Given the description of an element on the screen output the (x, y) to click on. 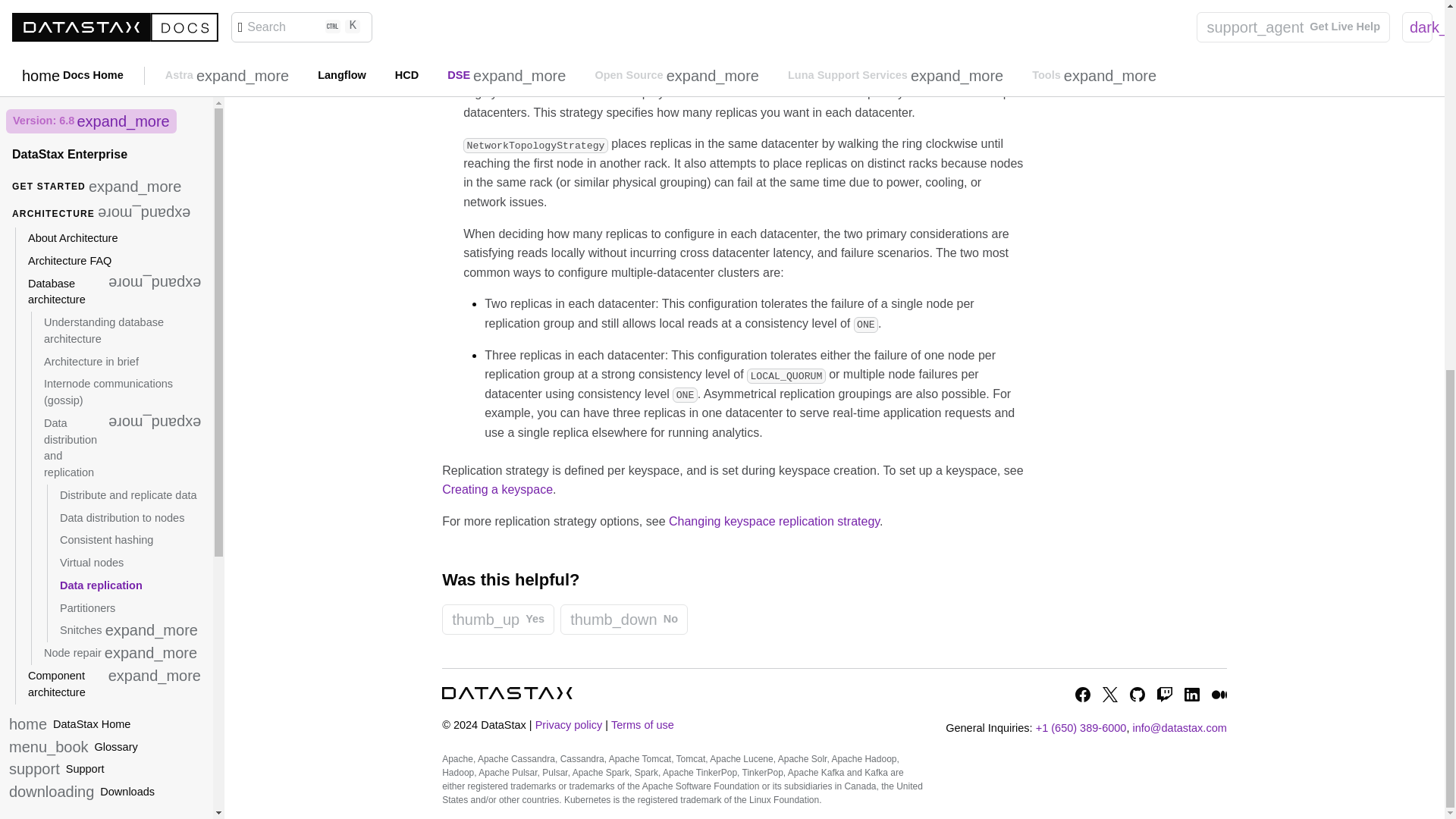
Go to DataStax Facebook (1082, 694)
Go to DataStax Medium (1219, 694)
Go to DataStax Linkedin (1192, 694)
Go to DataStax Twitch (1164, 694)
Go to DataStax GitHub (1136, 694)
Go to the DataStax Website (507, 693)
